Given the description of an element on the screen output the (x, y) to click on. 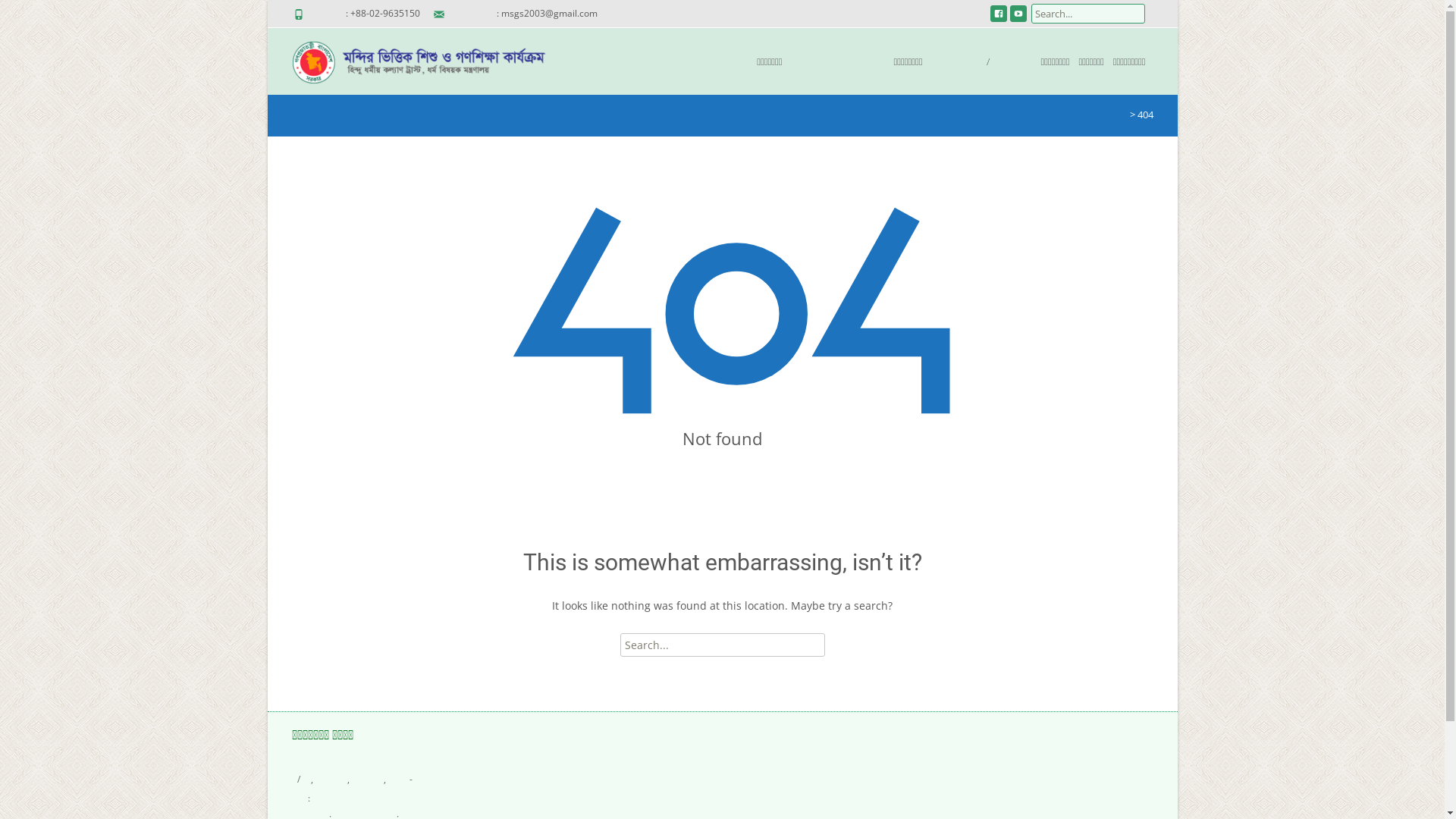
Search for: Element type: hover (1088, 13)
facebook Element type: hover (998, 18)
Search for: Element type: hover (722, 644)
youtube Element type: hover (1018, 18)
Search Element type: text (35, 15)
Skip to content Element type: text (629, 37)
